Given the description of an element on the screen output the (x, y) to click on. 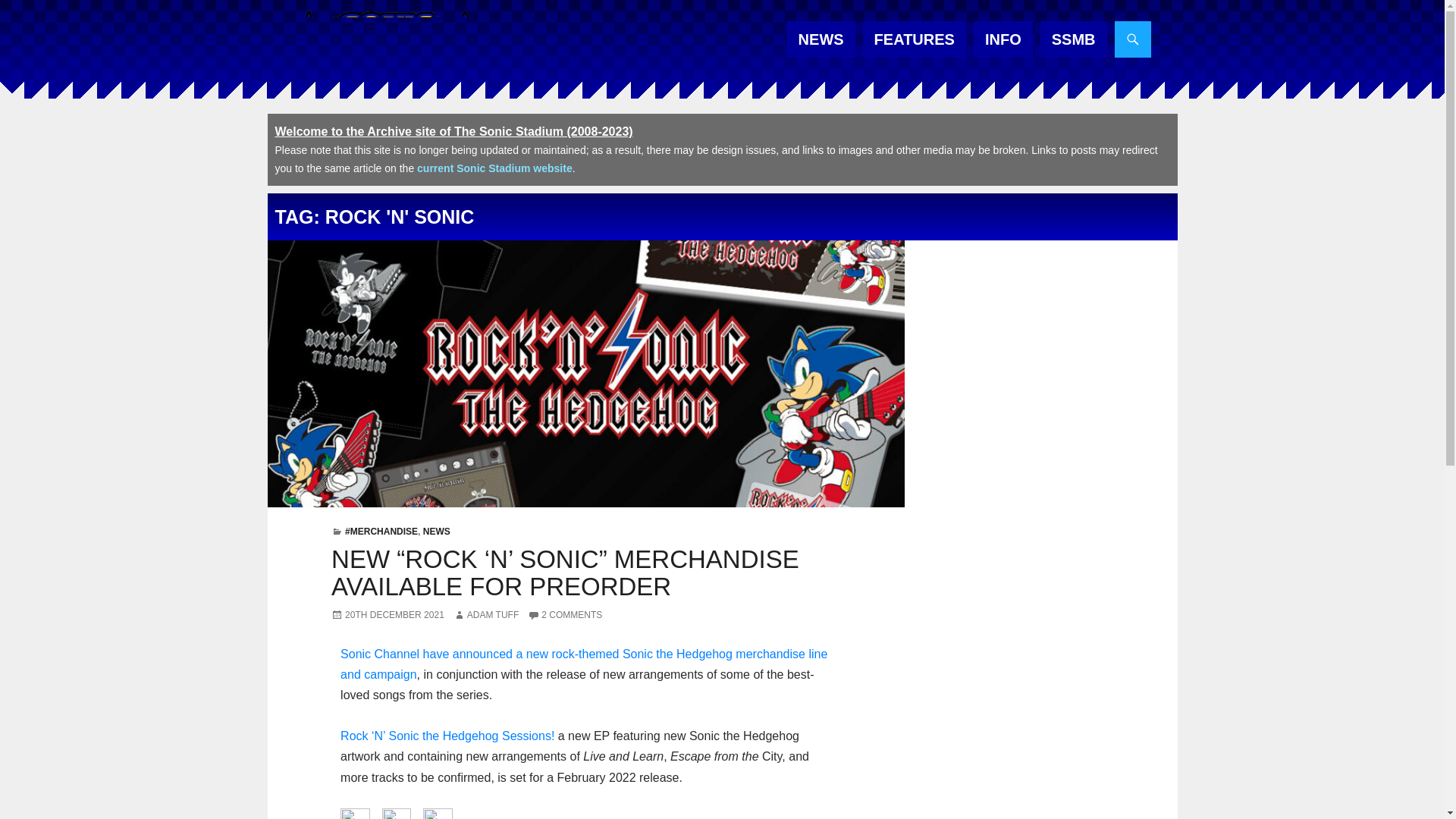
NEWS (821, 39)
INFO (1003, 39)
Go back to the HOME Page... (385, 40)
FEATURES (914, 39)
SSMB (1073, 39)
